Given the description of an element on the screen output the (x, y) to click on. 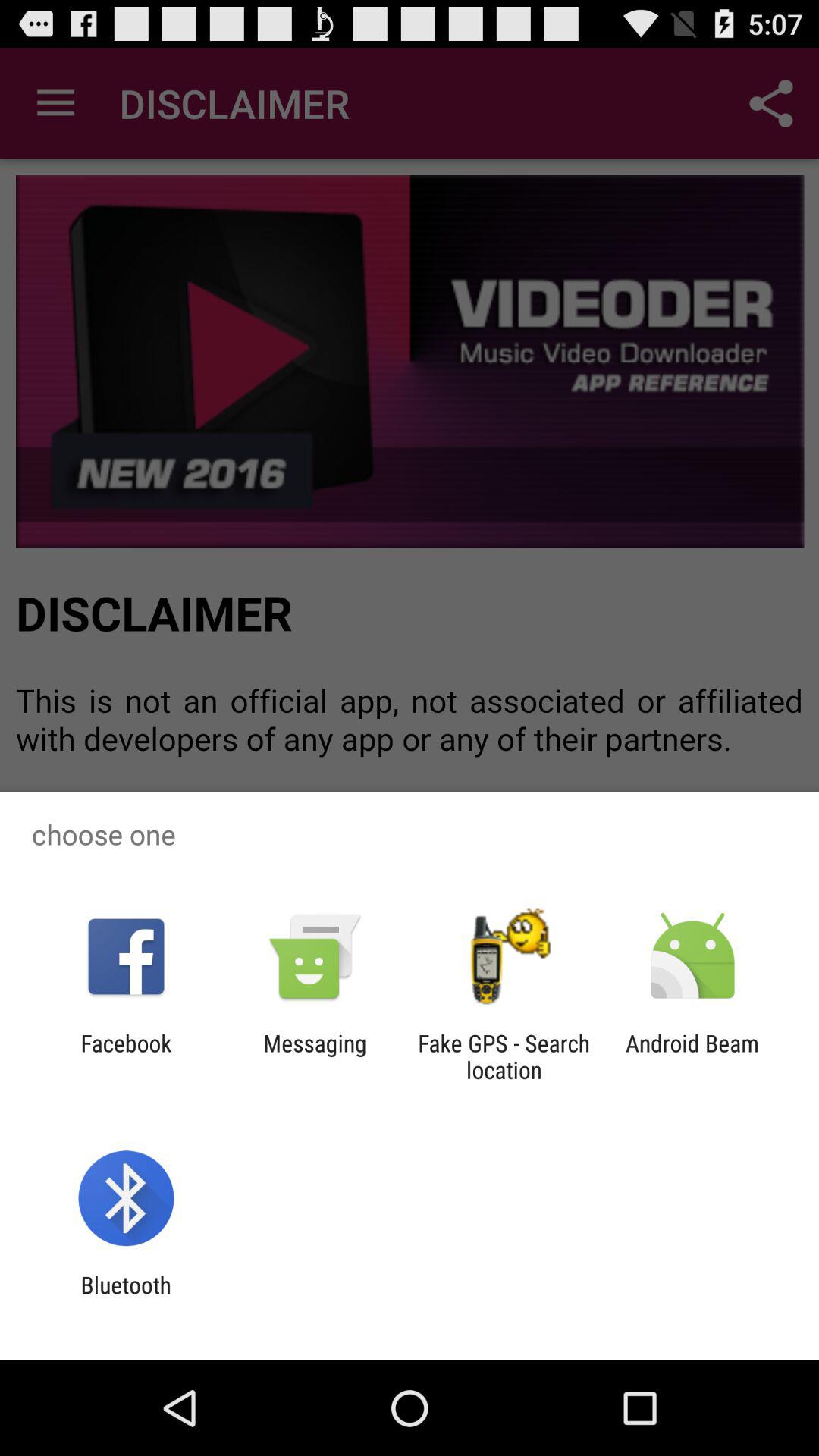
jump to facebook app (125, 1056)
